Given the description of an element on the screen output the (x, y) to click on. 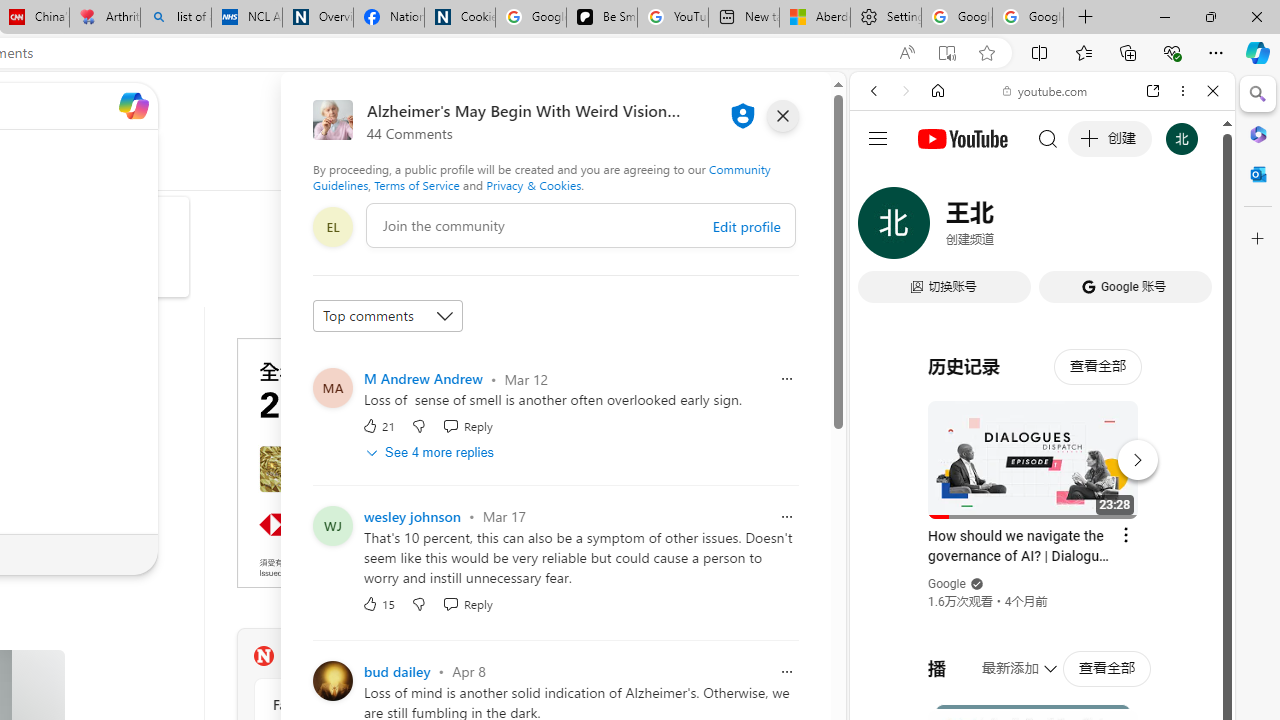
Web scope (882, 180)
Trailer #2 [HD] (1042, 592)
AutomationID: canvas (386, 462)
bud dailey (397, 670)
Personalize (488, 162)
Trailer #2 [HD] (1042, 594)
Preferences (1189, 228)
Search Filter, Search Tools (1093, 228)
Class: qc-adchoices-icon (527, 345)
